Given the description of an element on the screen output the (x, y) to click on. 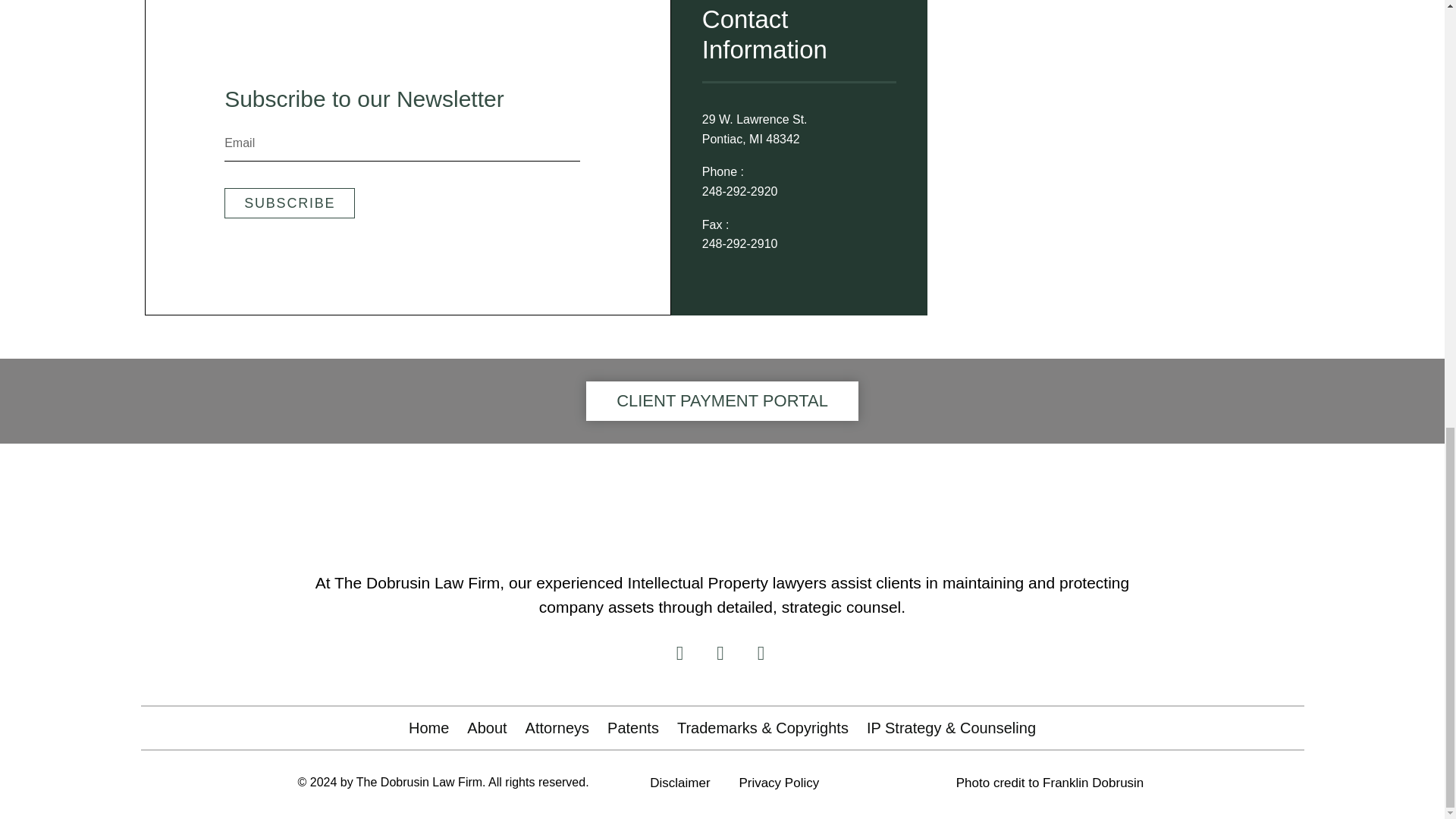
SUBSCRIBE (289, 203)
CLIENT PAYMENT PORTAL (722, 400)
248-292-2910 (739, 243)
29 W. Lawrence St. Pontiac, MI 48342 (767, 128)
248-292-2920 (739, 191)
